Given the description of an element on the screen output the (x, y) to click on. 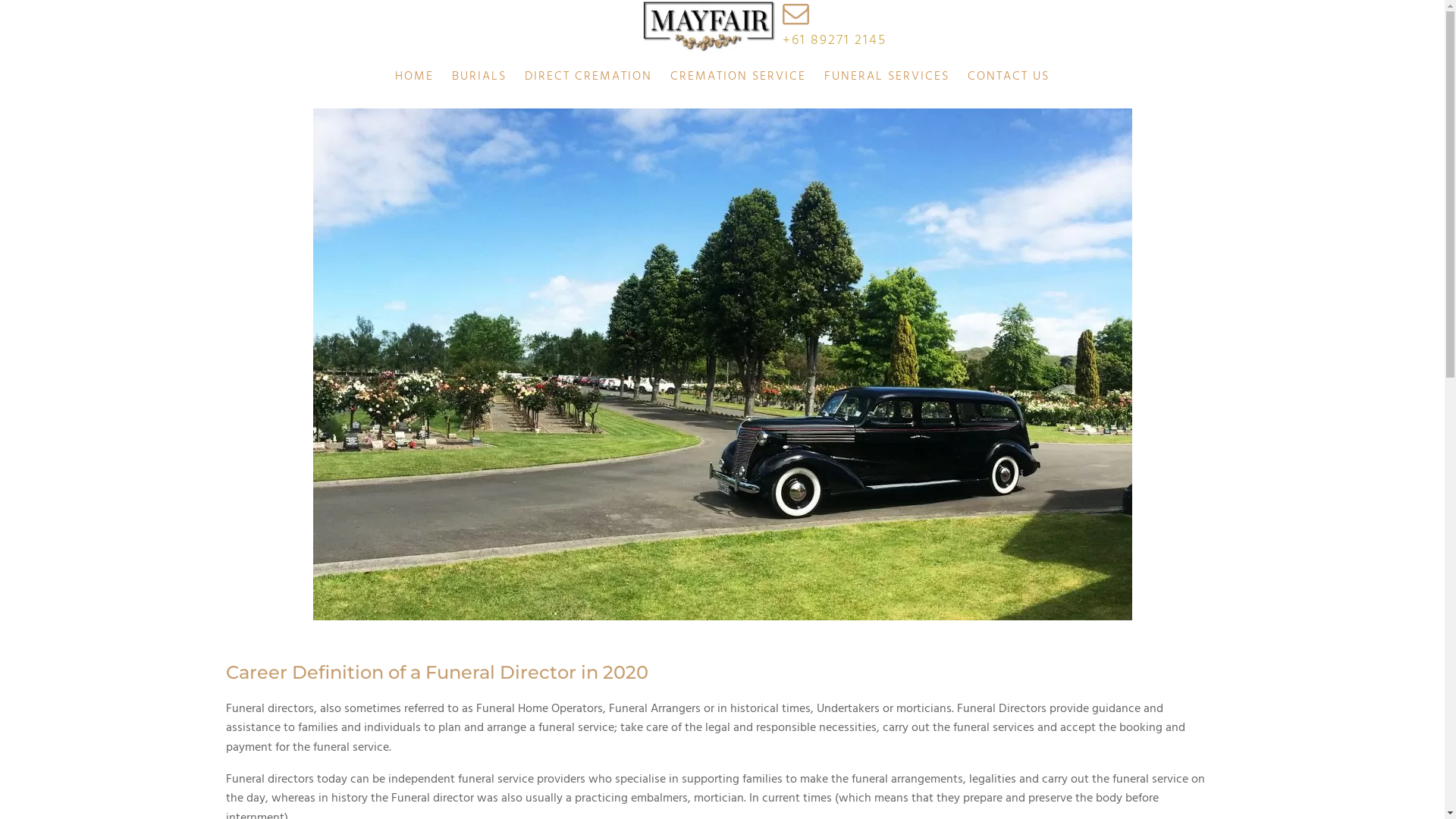
+61 89271 2145 Element type: text (834, 41)
BURIALS Element type: text (478, 77)
FUNERAL SERVICES Element type: text (886, 77)
CONTACT US Element type: text (1008, 77)
HOME Element type: text (413, 77)
DIRECT CREMATION Element type: text (588, 77)
CREMATION SERVICE Element type: text (738, 77)
